Given the description of an element on the screen output the (x, y) to click on. 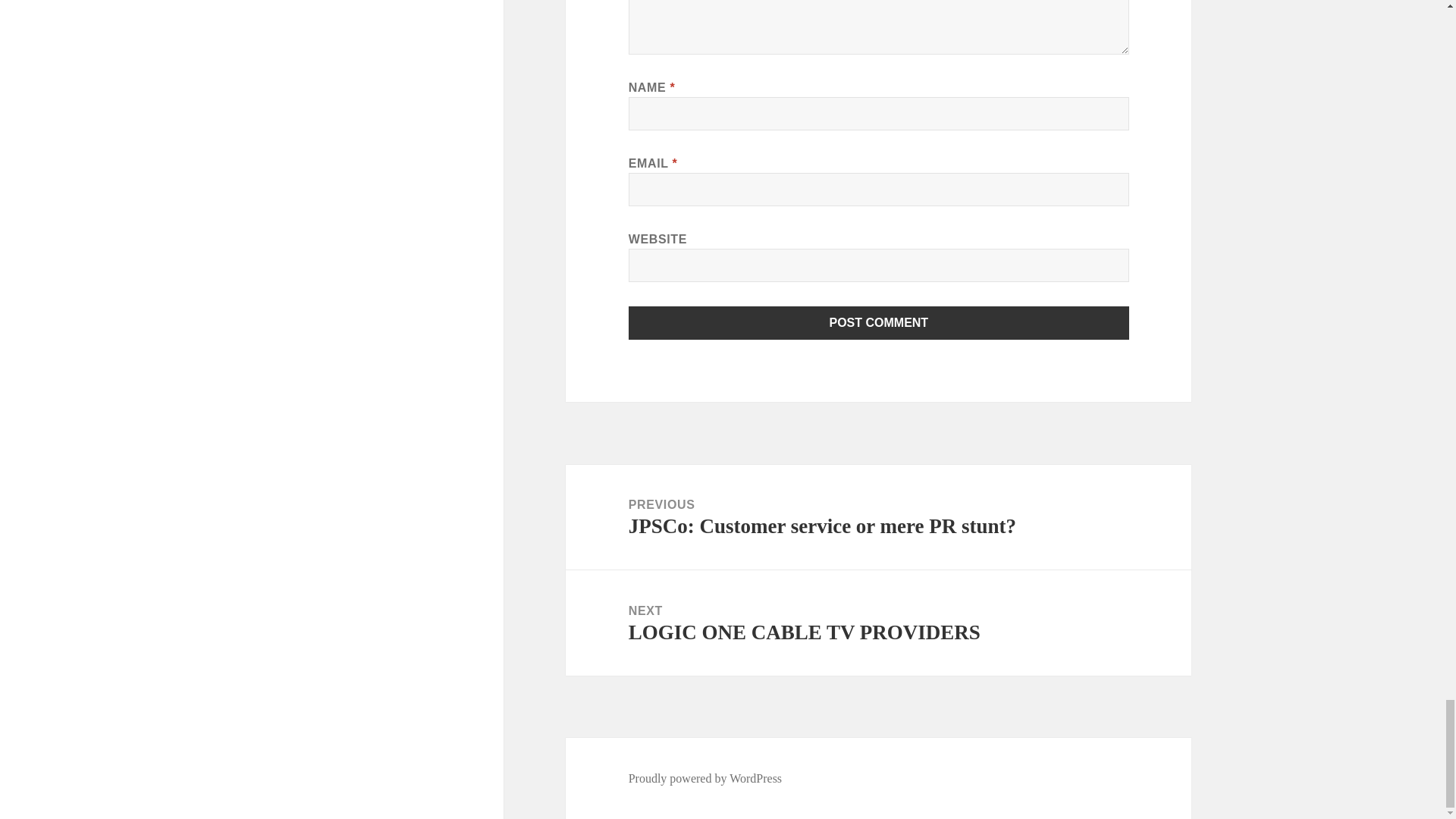
Post Comment (878, 322)
